Given the description of an element on the screen output the (x, y) to click on. 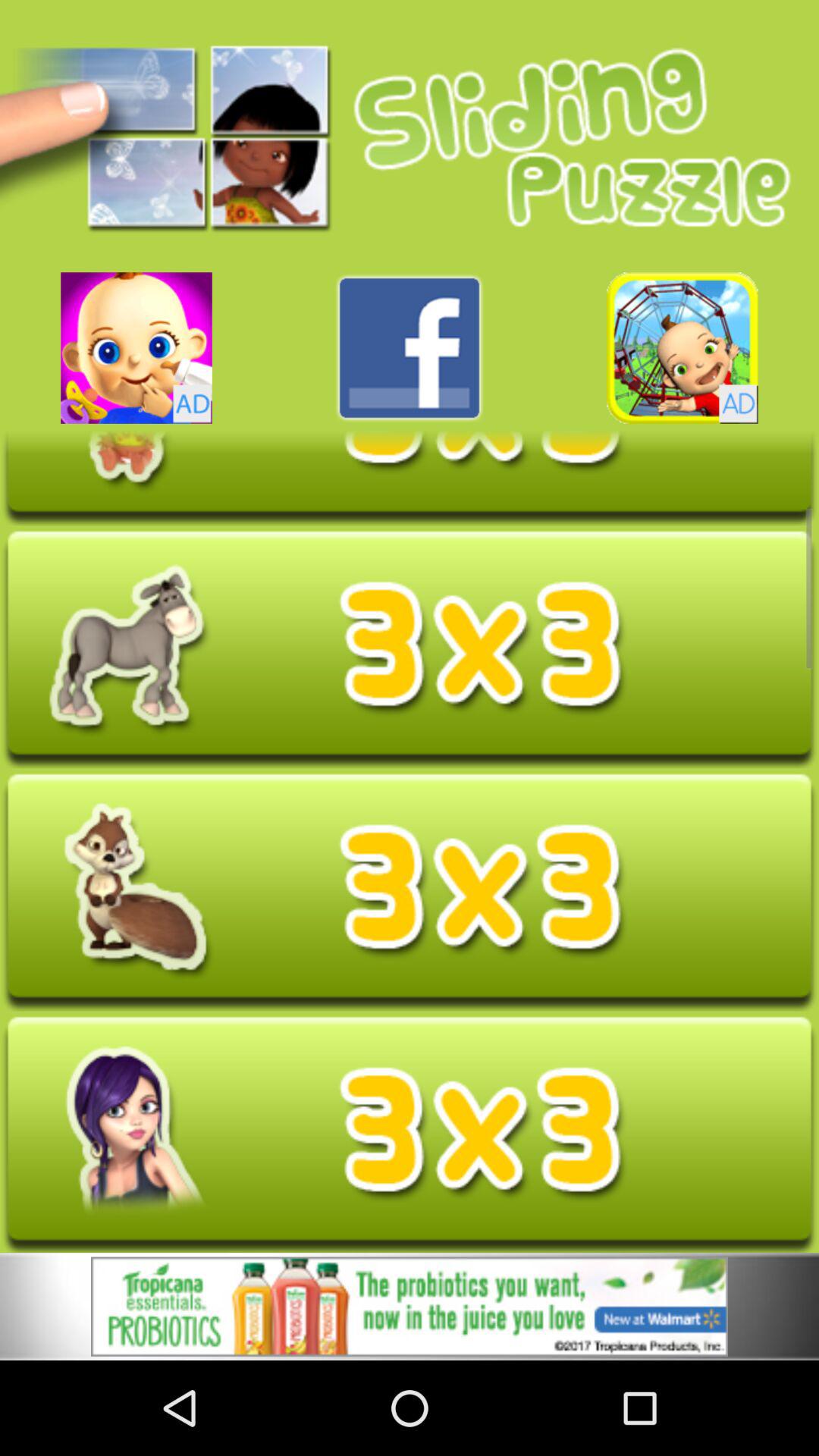
open this puzzle (409, 1134)
